Given the description of an element on the screen output the (x, y) to click on. 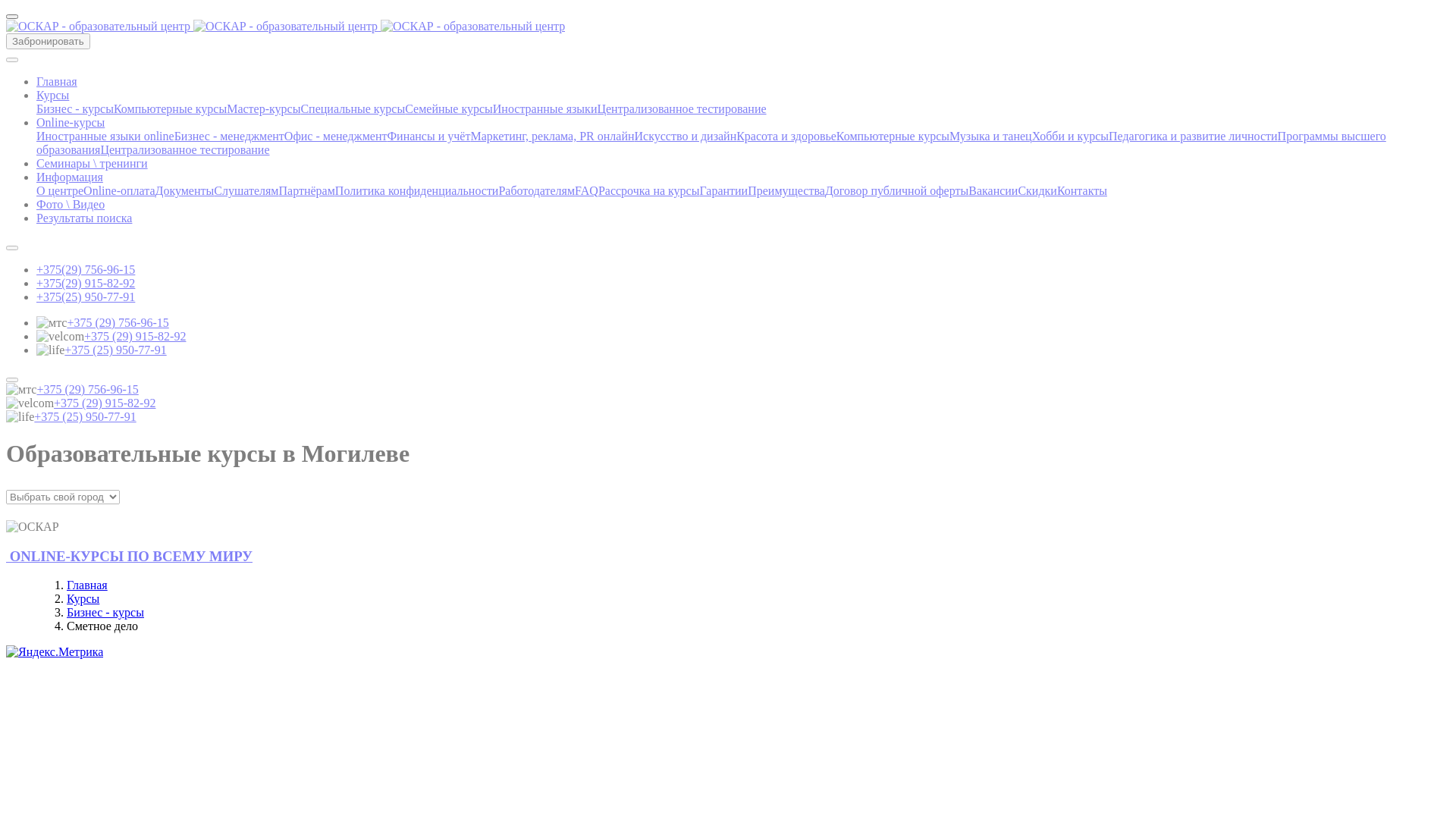
+375(29) 915-82-92 Element type: text (85, 282)
+375(29) 756-96-15 Element type: text (85, 269)
+375 (29) 915-82-92 Element type: text (134, 335)
FAQ Element type: text (586, 190)
+375 (25) 950-77-91 Element type: text (115, 349)
+375 (25) 950-77-91 Element type: text (84, 416)
+375 (29) 756-96-15 Element type: text (117, 322)
+375 (29) 756-96-15 Element type: text (87, 388)
Close Element type: hover (12, 16)
+375(25) 950-77-91 Element type: text (85, 296)
+375 (29) 915-82-92 Element type: text (104, 402)
